Given the description of an element on the screen output the (x, y) to click on. 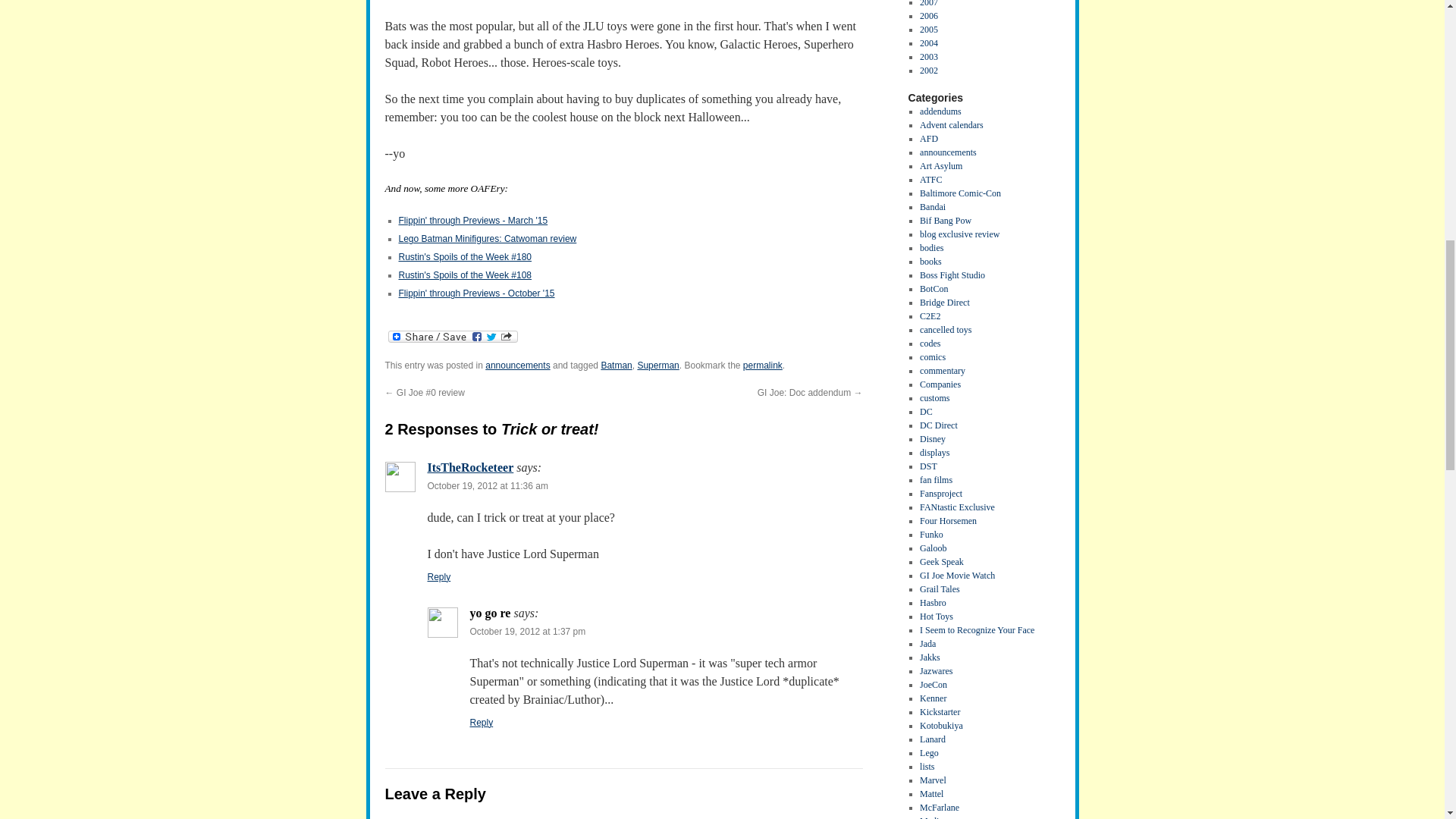
Flippin' through Previews - October '15 (476, 293)
Flippin' through Previews - March '15 (473, 220)
Lego Batman Minifigures: Catwoman review (487, 238)
Lego Batman Minifigures: Catwoman review (487, 238)
Flippin' through Previews - March '15 (473, 220)
Reply (439, 576)
Reply (481, 722)
Superman (657, 365)
Flippin' through Previews - October '15 (476, 293)
Batman (615, 365)
